Given the description of an element on the screen output the (x, y) to click on. 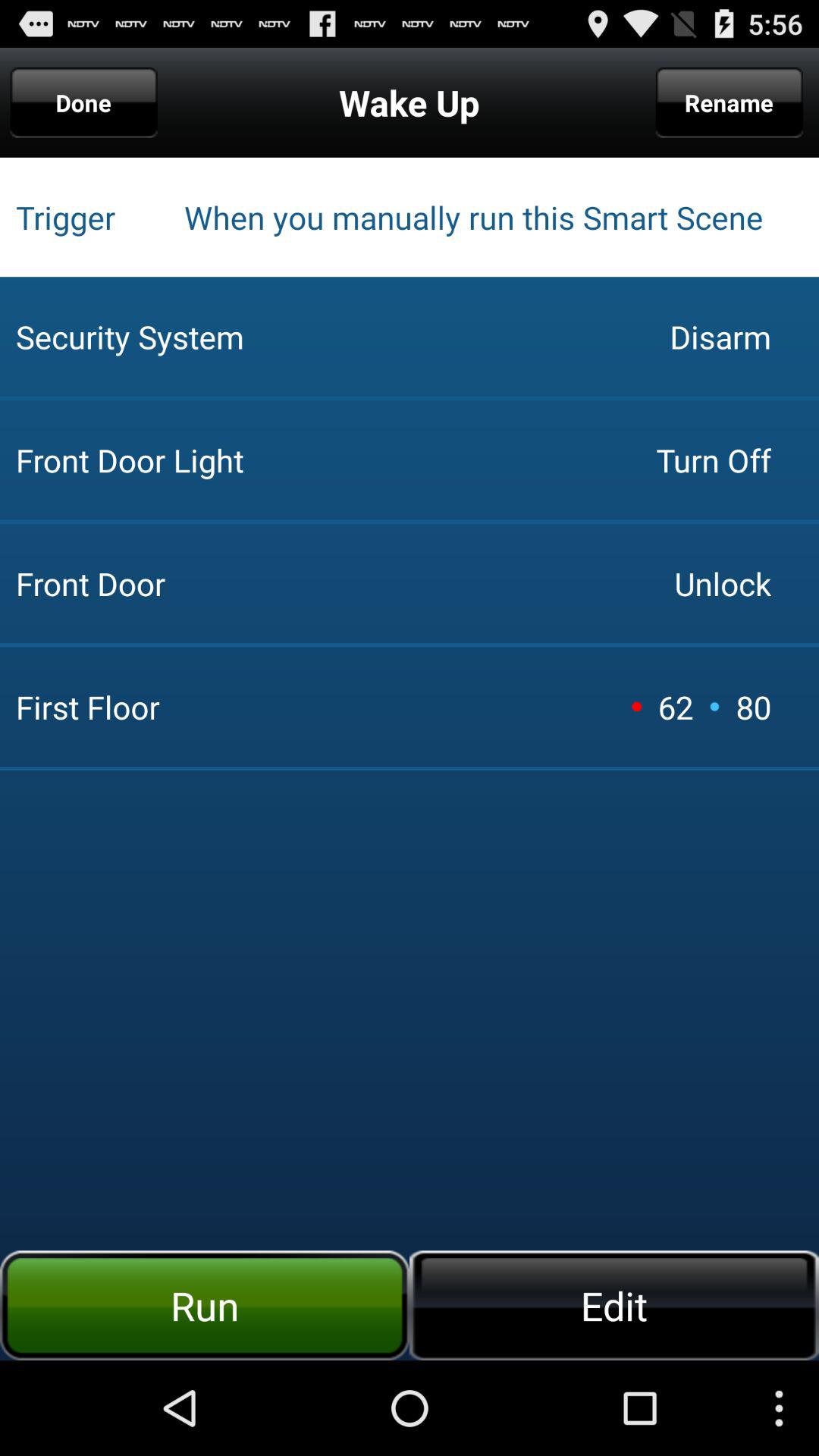
choose the item next to run button (614, 1305)
